Given the description of an element on the screen output the (x, y) to click on. 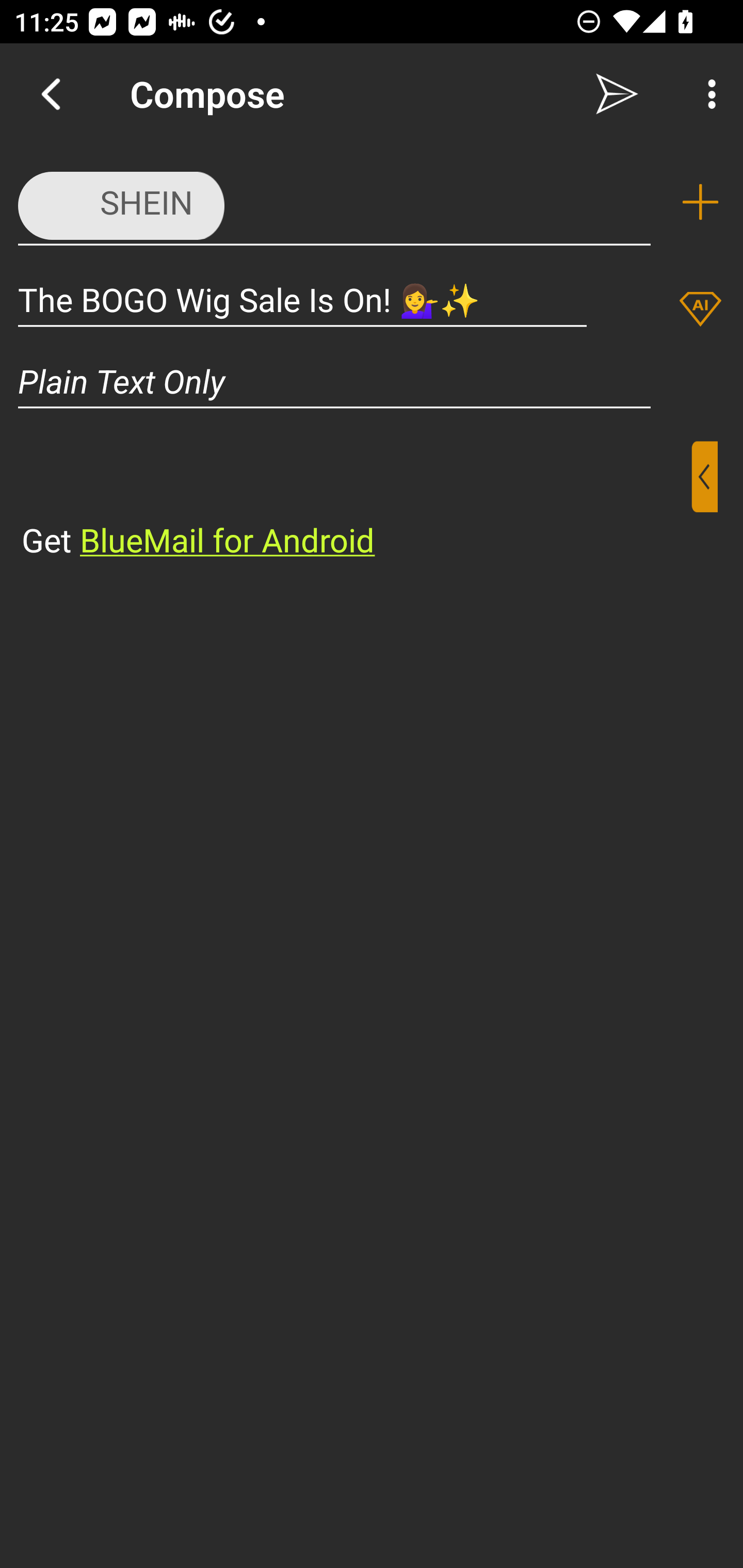
Navigate up (50, 93)
Send (616, 93)
More Options (706, 93)
SHEIN <shein@usmail.shein.com>,  (334, 201)
Add recipient (To) (699, 201)
The BOGO Wig Sale Is On! 💁‍♀️✨ (302, 299)
Plain Text Only (371, 380)


⁣Get BlueMail for Android ​ (355, 501)
